Given the description of an element on the screen output the (x, y) to click on. 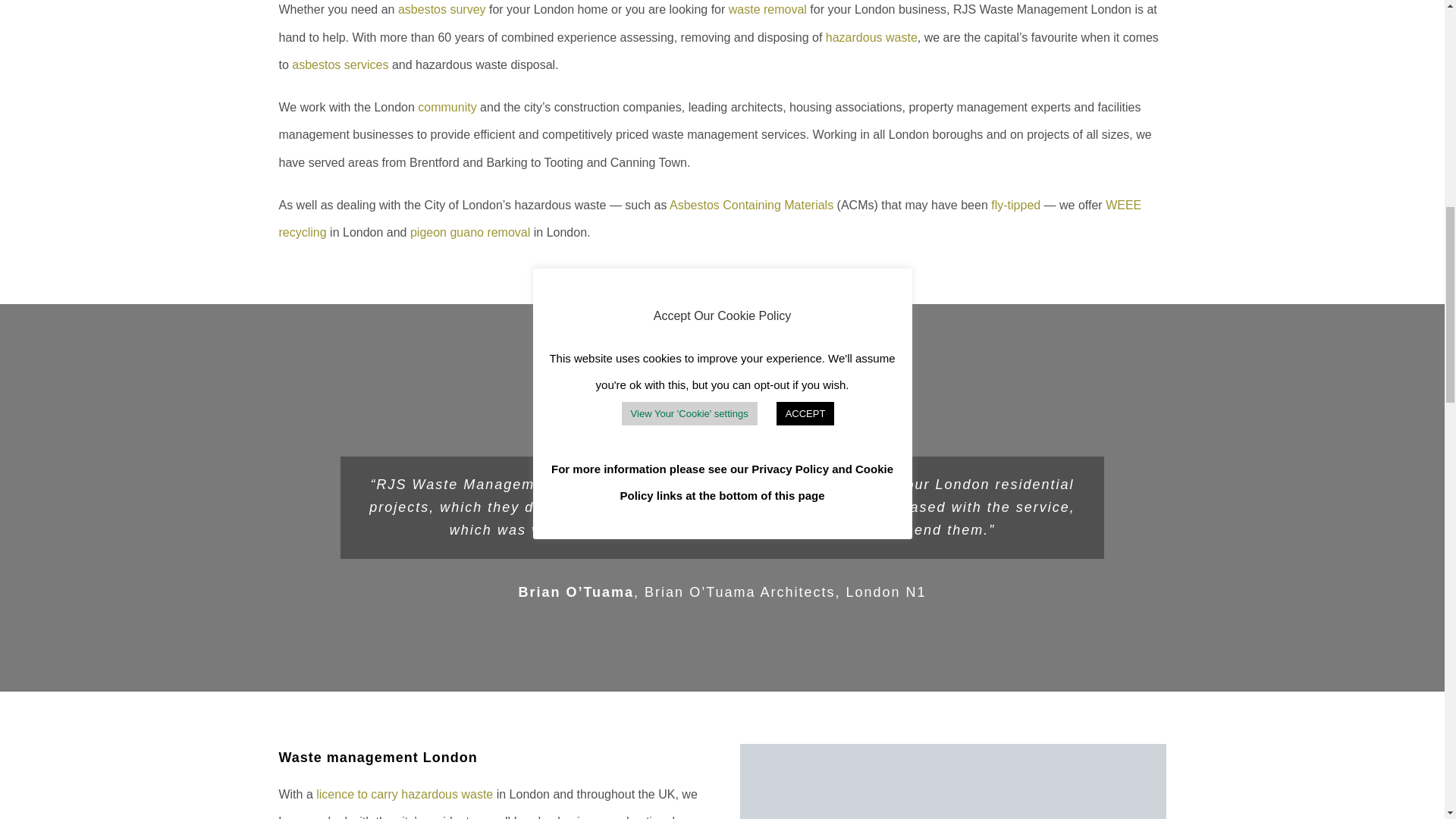
RJS Waste Management London car and waste removal van (952, 781)
